Given the description of an element on the screen output the (x, y) to click on. 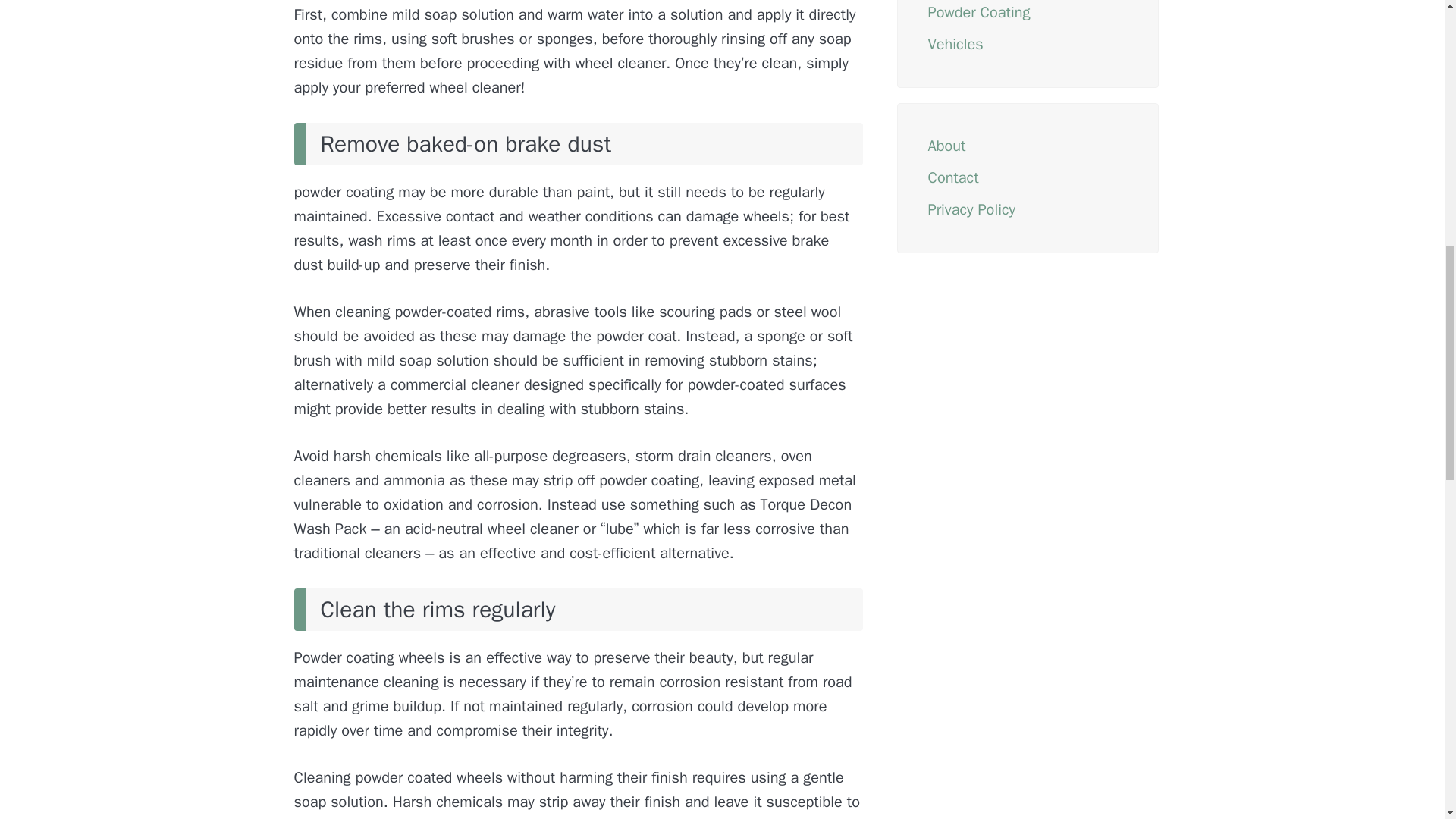
Powder Coating (979, 12)
Contact (953, 177)
About (947, 145)
Vehicles (956, 44)
Scroll back to top (1406, 720)
Privacy Policy (971, 209)
